Given the description of an element on the screen output the (x, y) to click on. 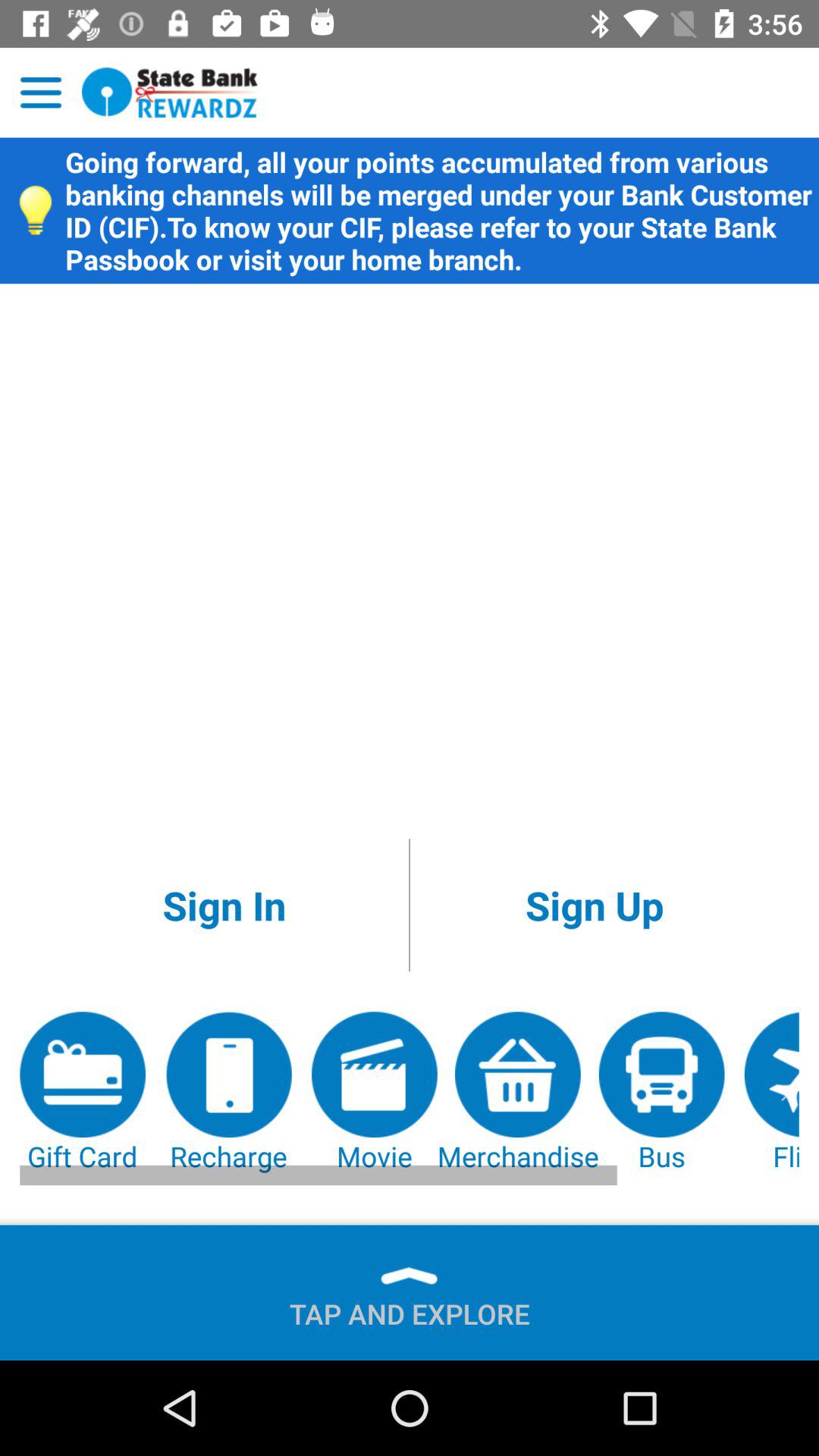
launch app below the sign in (82, 1093)
